Given the description of an element on the screen output the (x, y) to click on. 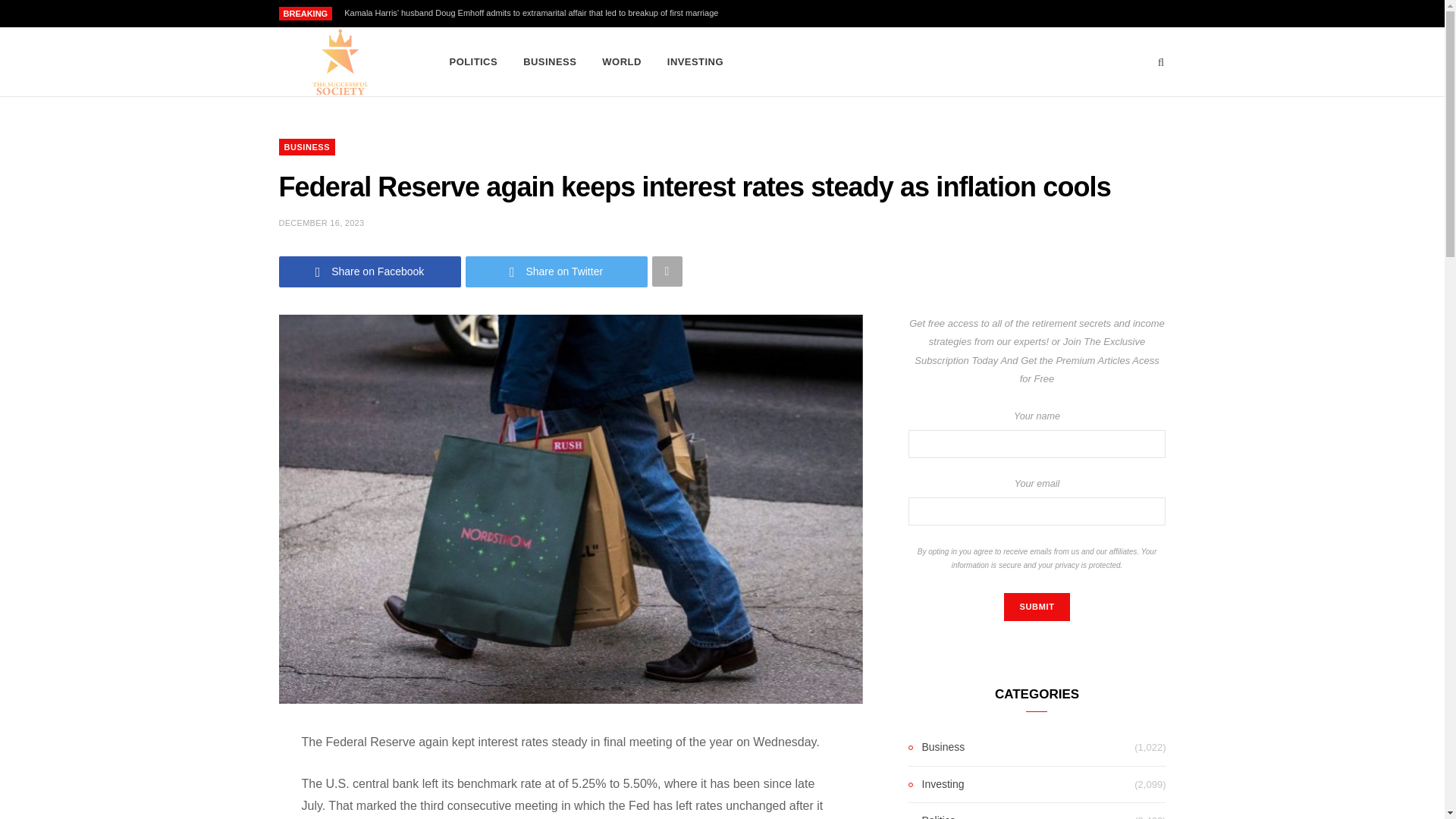
POLITICS (473, 61)
INVESTING (695, 61)
BUSINESS (307, 146)
Submit (1036, 606)
Share on Twitter (556, 271)
DECEMBER 16, 2023 (322, 222)
Share on Facebook (370, 271)
Share on Facebook (370, 271)
BUSINESS (550, 61)
WORLD (621, 61)
Share on Twitter (556, 271)
